Given the description of an element on the screen output the (x, y) to click on. 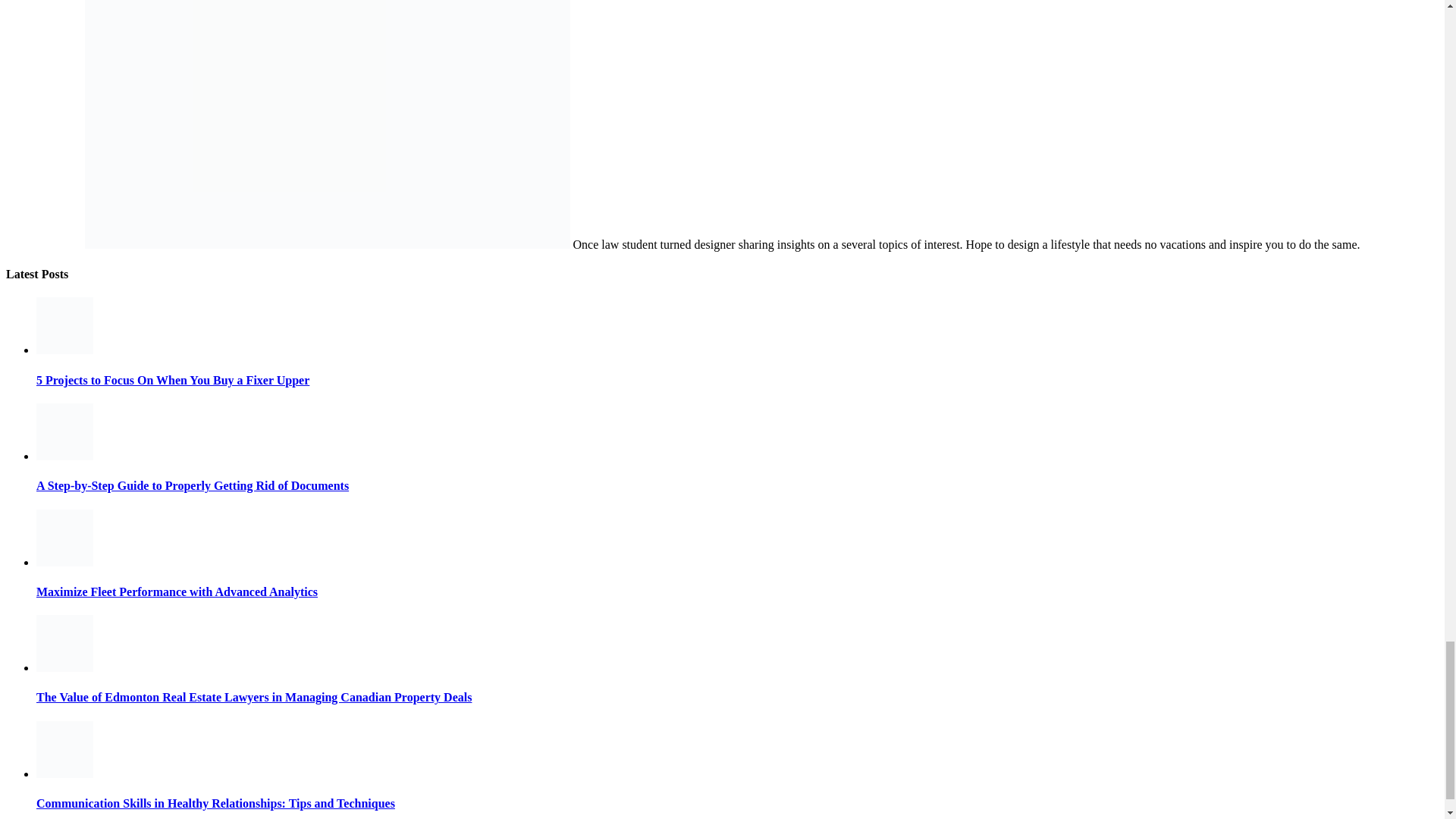
Maximize Fleet Performance with Advanced Analytics (64, 562)
A Step-by-Step Guide to Properly Getting Rid of Documents (64, 455)
5 Projects to Focus On When You Buy a Fixer Upper (64, 349)
